Given the description of an element on the screen output the (x, y) to click on. 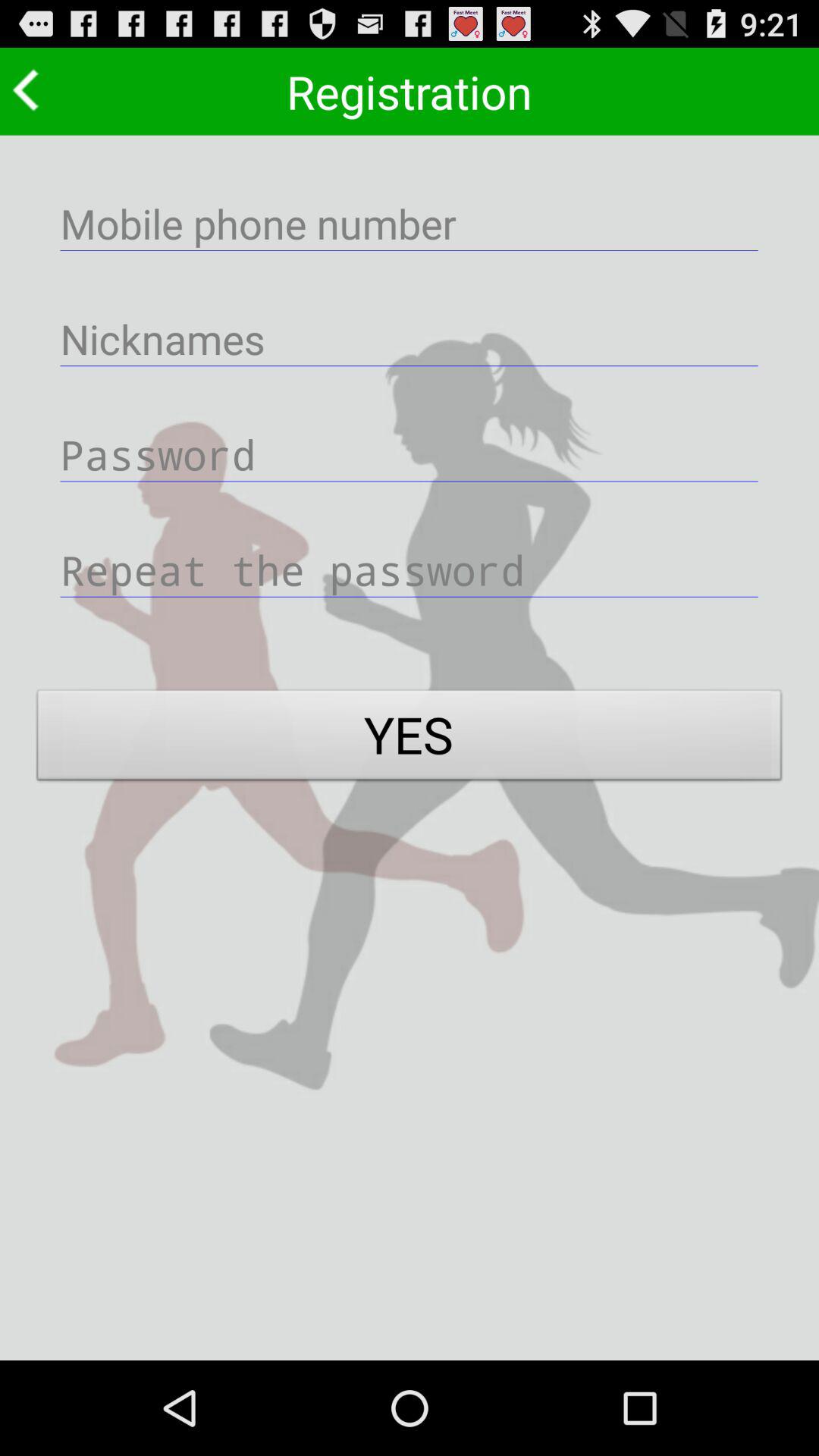
type password again (409, 569)
